Given the description of an element on the screen output the (x, y) to click on. 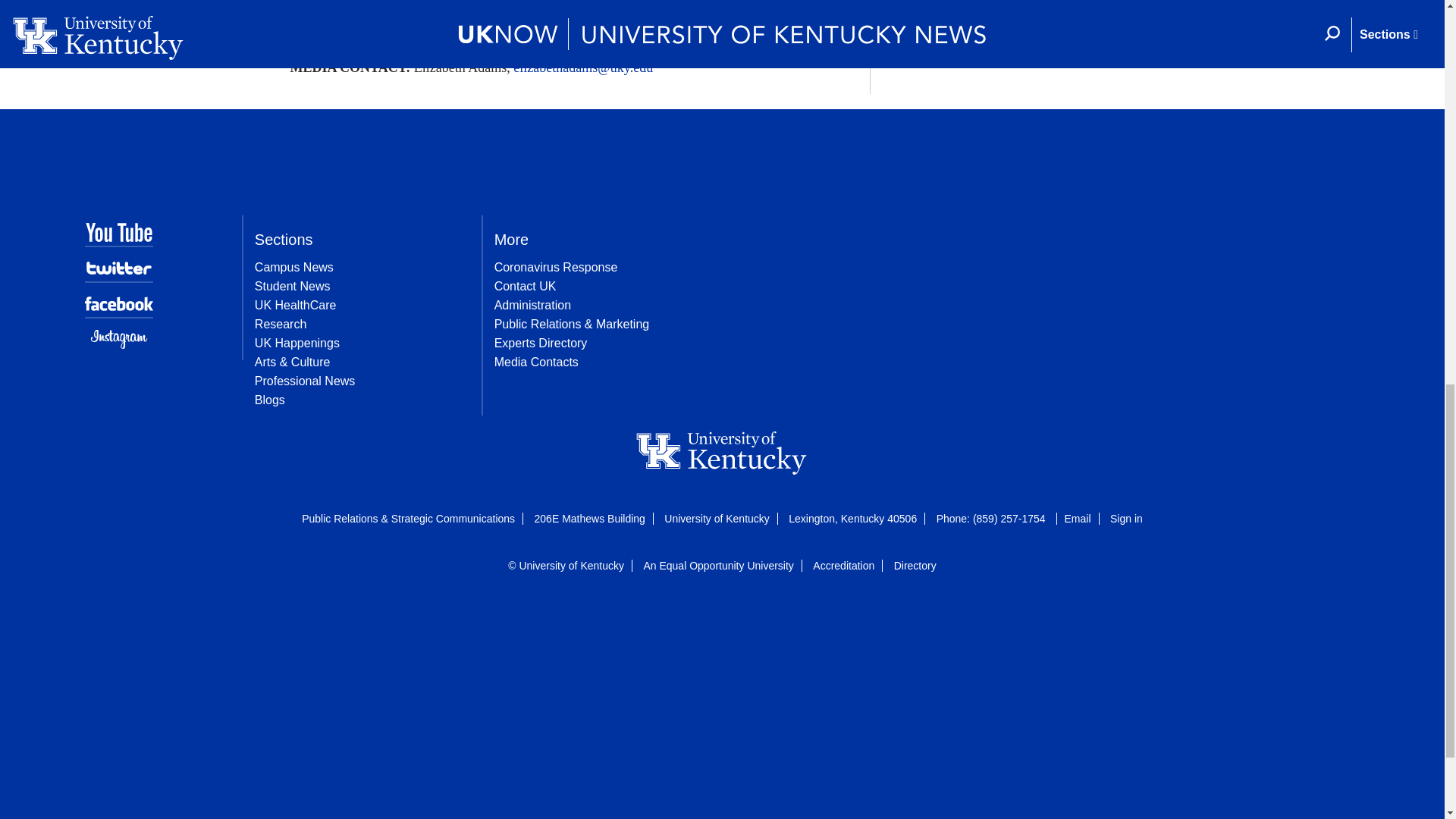
click here (749, 711)
